Given the description of an element on the screen output the (x, y) to click on. 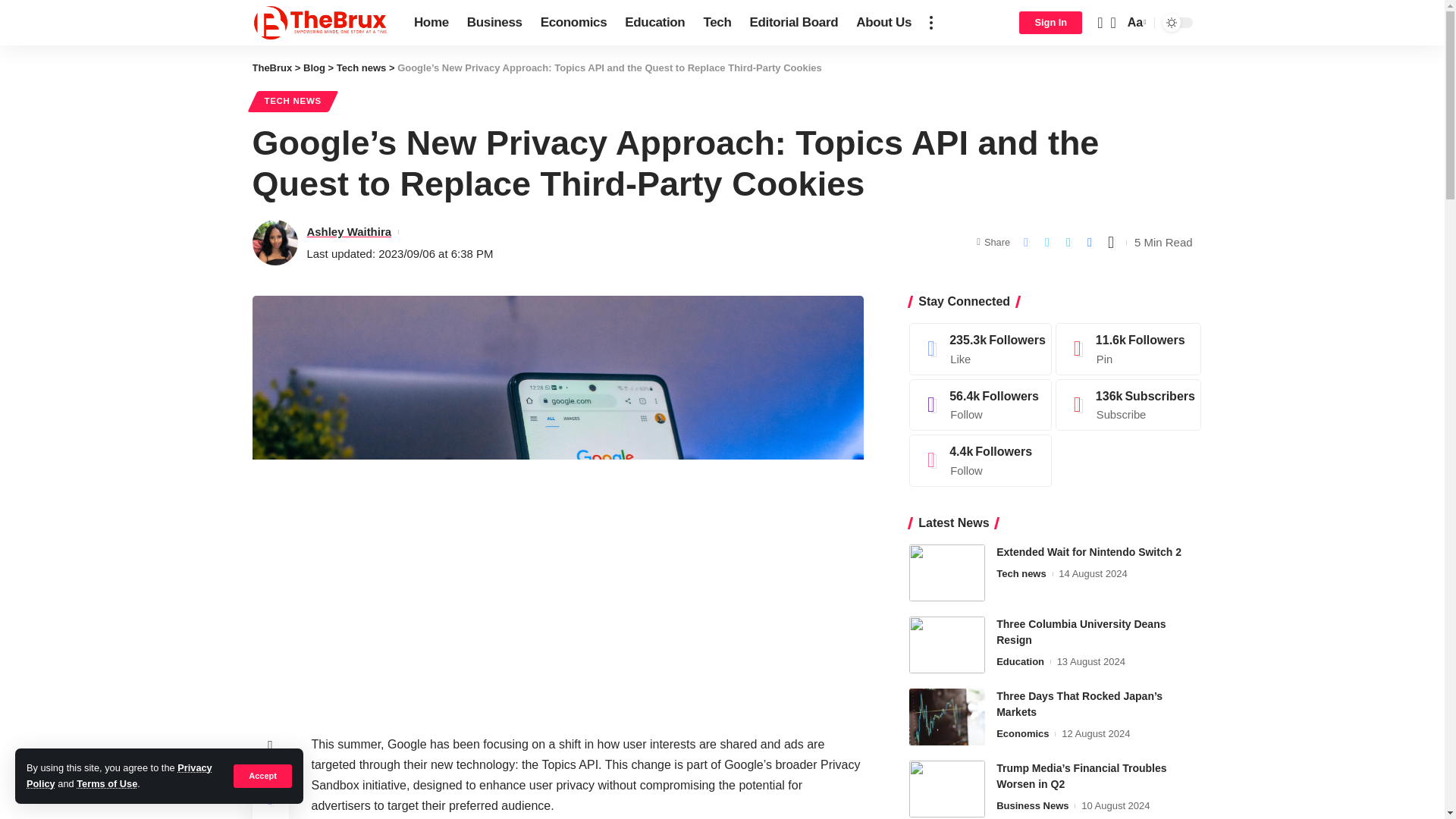
TheBrux (271, 67)
Sign In (1050, 22)
Go to the Tech news Category archives. (361, 67)
Aa (1135, 22)
Tech (716, 22)
Economics (573, 22)
Home (431, 22)
Education (654, 22)
Privacy Policy (119, 775)
Business (494, 22)
